Given the description of an element on the screen output the (x, y) to click on. 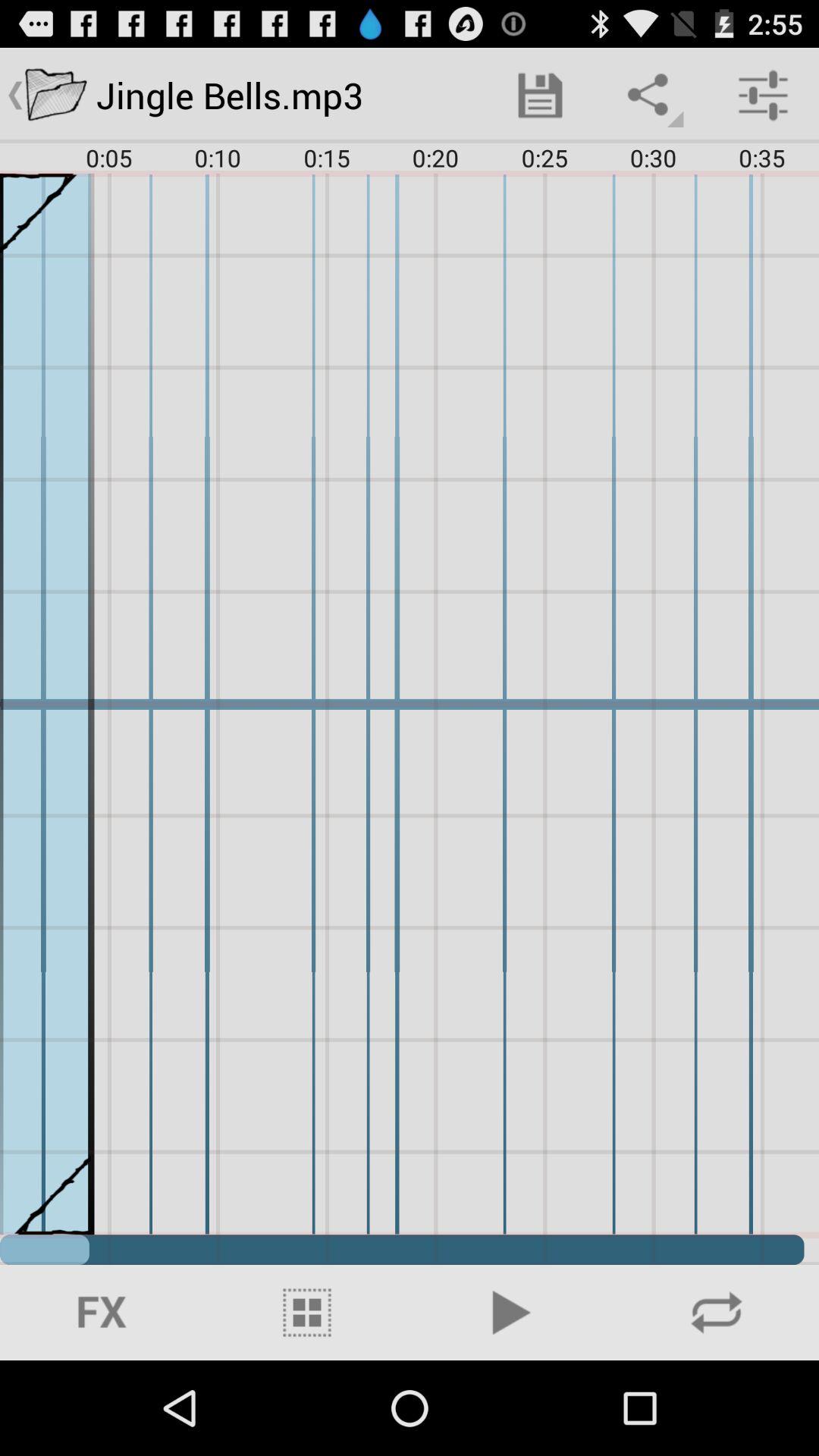
select item at the top (540, 95)
